Given the description of an element on the screen output the (x, y) to click on. 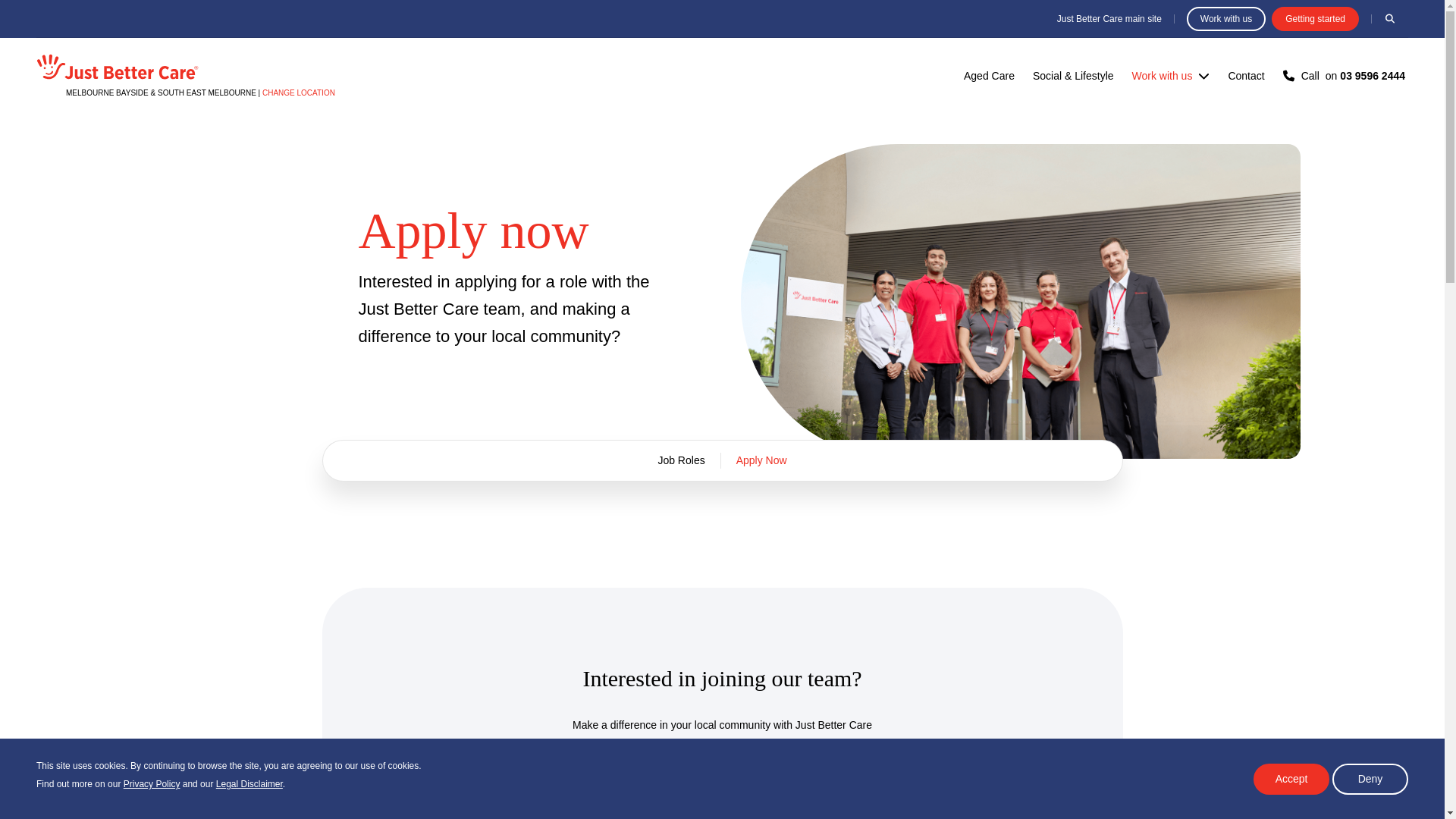
Work with us (1162, 75)
Job Roles (680, 460)
Work with us (722, 775)
Work with us (1225, 17)
Getting started (1344, 75)
Apply Now (1314, 17)
Just Better Care main site (761, 460)
Just better care (1109, 18)
Search components (117, 65)
CHANGE LOCATION (1389, 17)
